Given the description of an element on the screen output the (x, y) to click on. 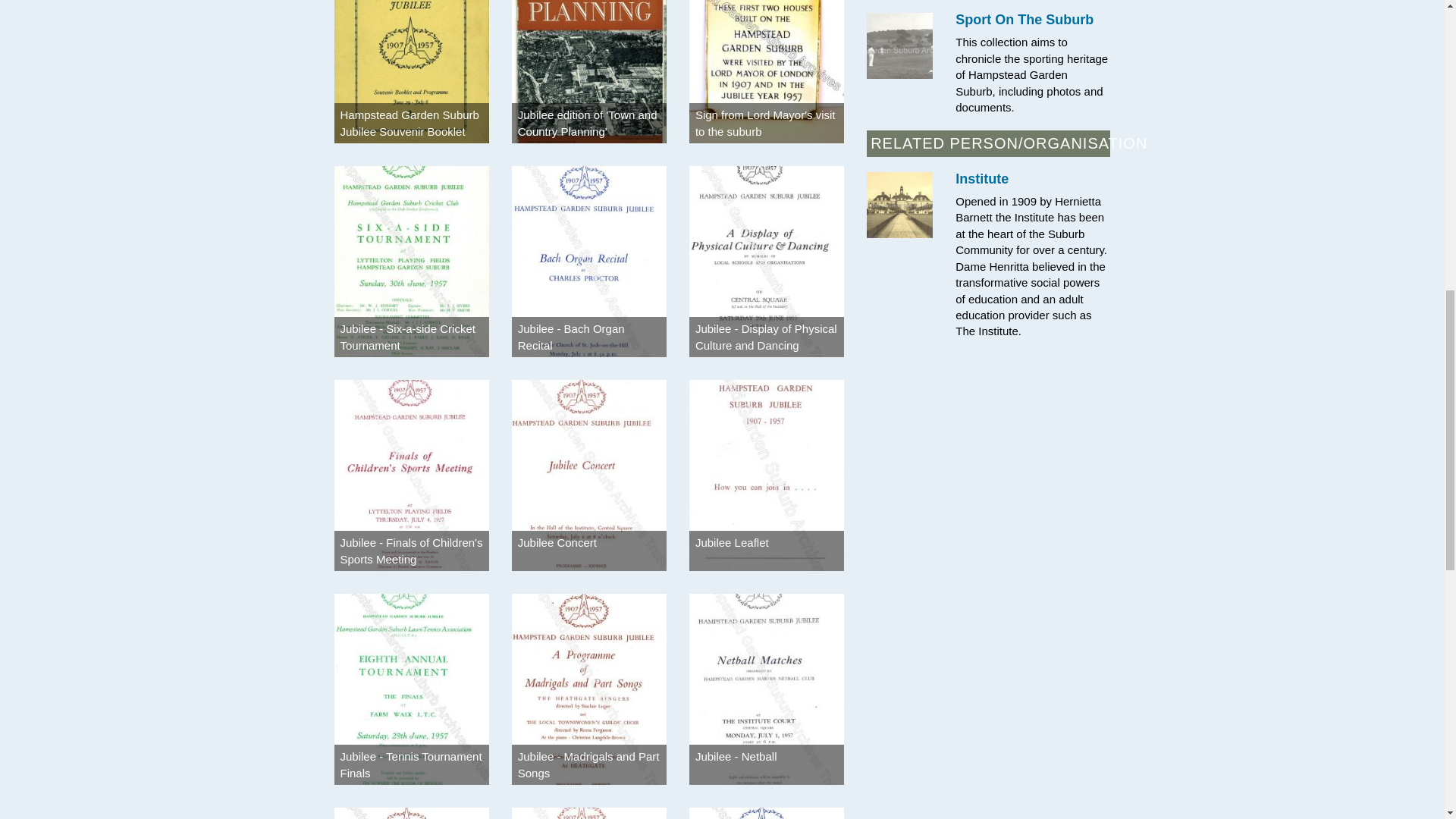
Jubilee - Bach Organ Recital (571, 336)
Jubilee - Display of Physical Culture and Dancing (766, 336)
Hampstead Garden Suburb Jubilee Souvenir Booklet (409, 122)
Sign from Lord Mayor's visit to the suburb (765, 122)
Jubilee - Finals of Children's Sports Meeting (410, 550)
Jubilee edition of 'Town and Country Planning' (588, 122)
Jubilee - Six-a-side Cricket Tournament (406, 336)
